Given the description of an element on the screen output the (x, y) to click on. 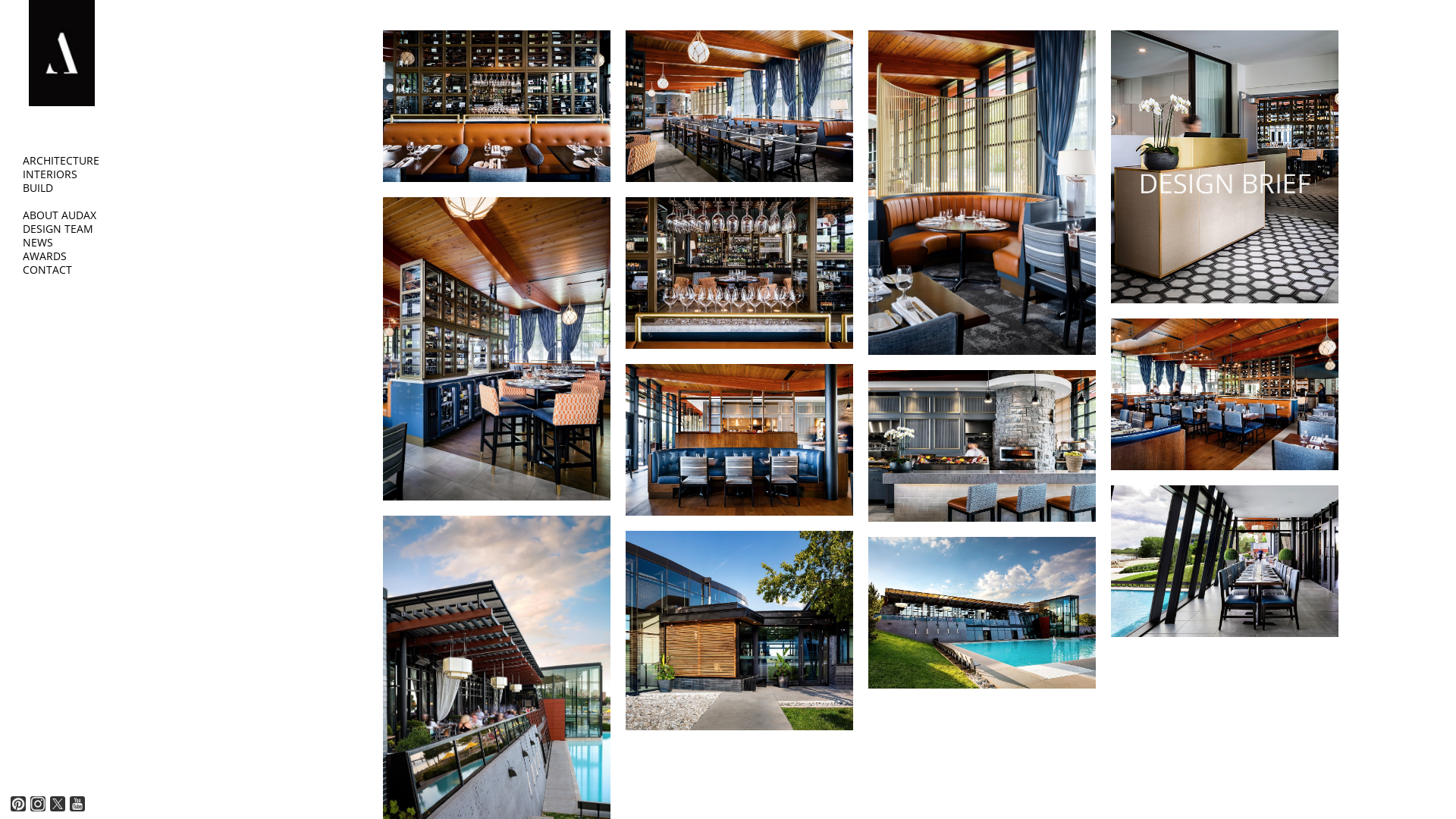
INTERIORS Element type: text (49, 173)
CONTACT Element type: text (47, 269)
ARCHITECTURE Element type: text (60, 160)
BUILD Element type: text (37, 187)
AWARDS Element type: text (44, 255)
ABOUT AUDAX Element type: text (59, 214)
NEWS Element type: text (37, 242)
DESIGN TEAM Element type: text (57, 228)
